Given the description of an element on the screen output the (x, y) to click on. 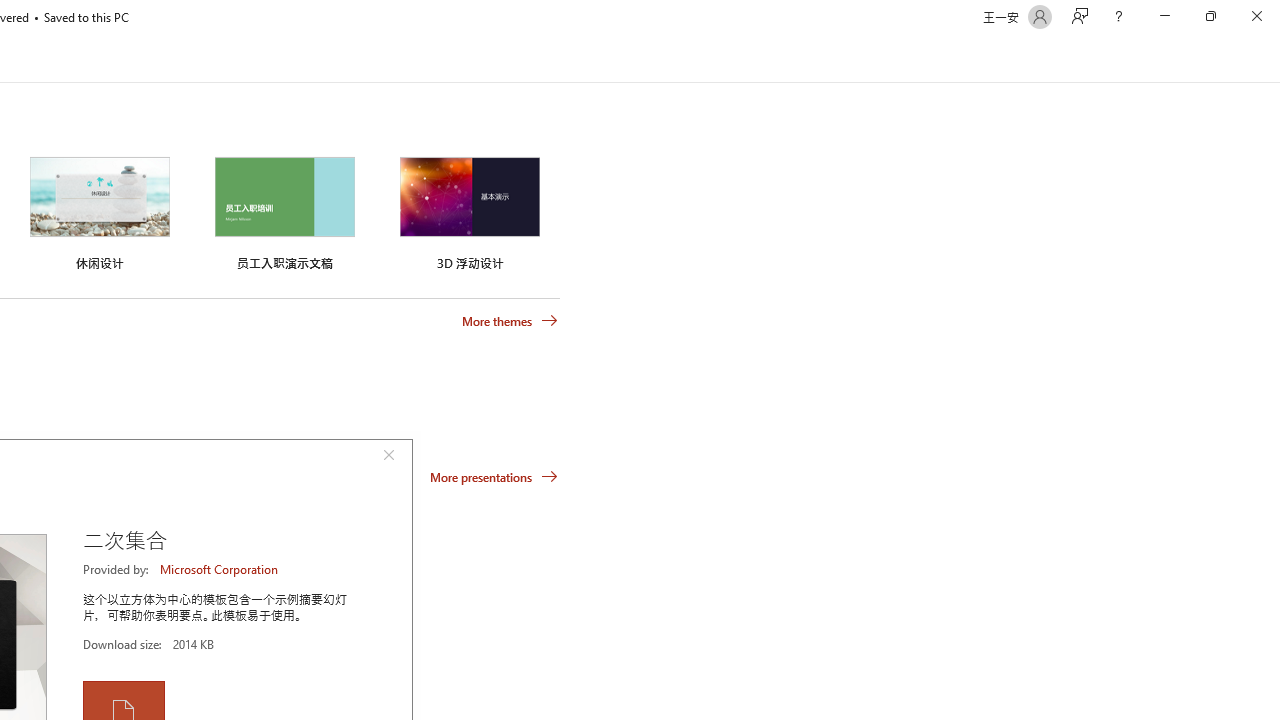
Class: NetUIScrollBar (1271, 59)
More presentations (493, 476)
Microsoft Corporation (220, 569)
More themes (509, 321)
